Given the description of an element on the screen output the (x, y) to click on. 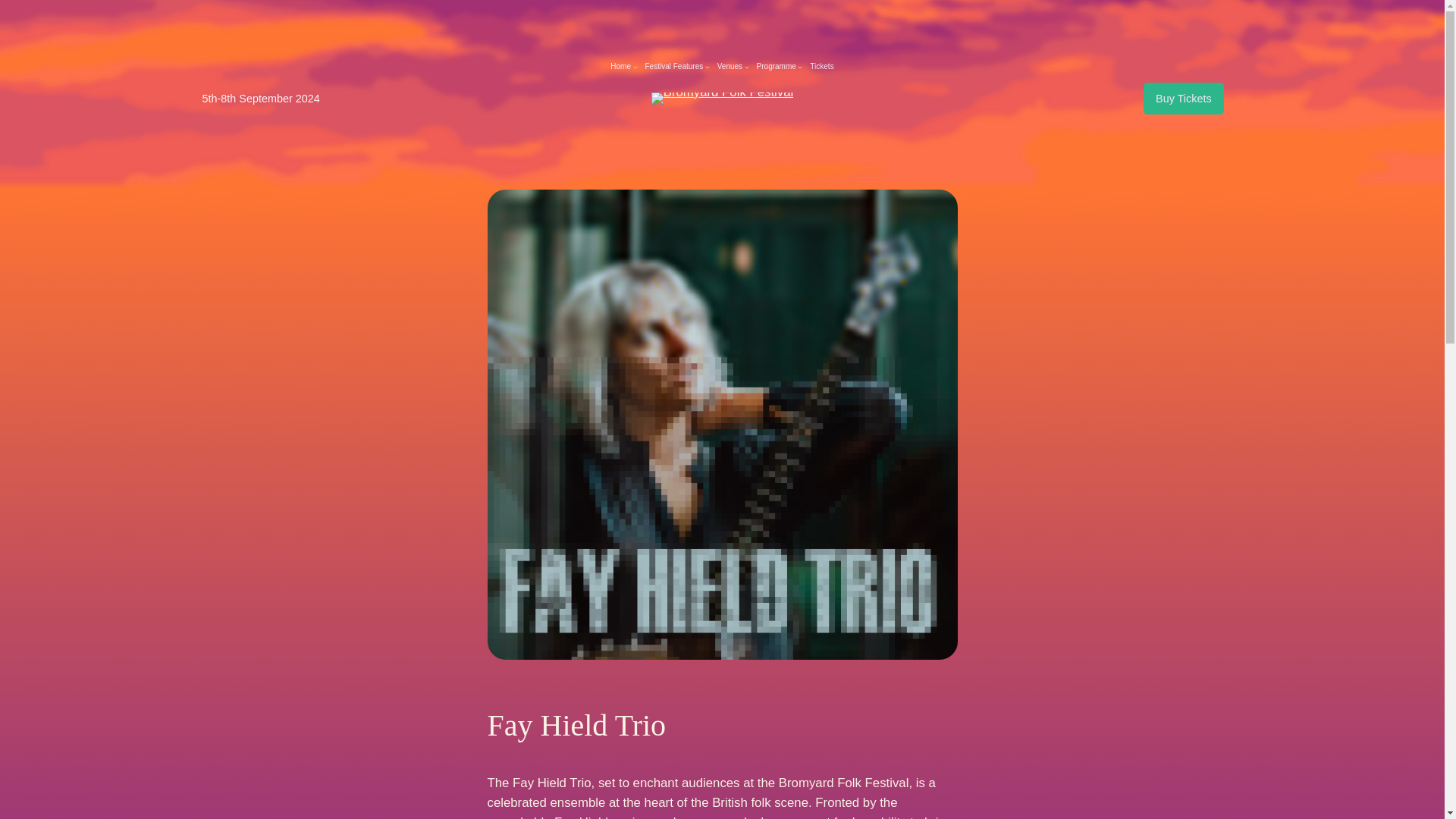
Home (620, 66)
Venues (729, 66)
Festival Features (674, 66)
